Given the description of an element on the screen output the (x, y) to click on. 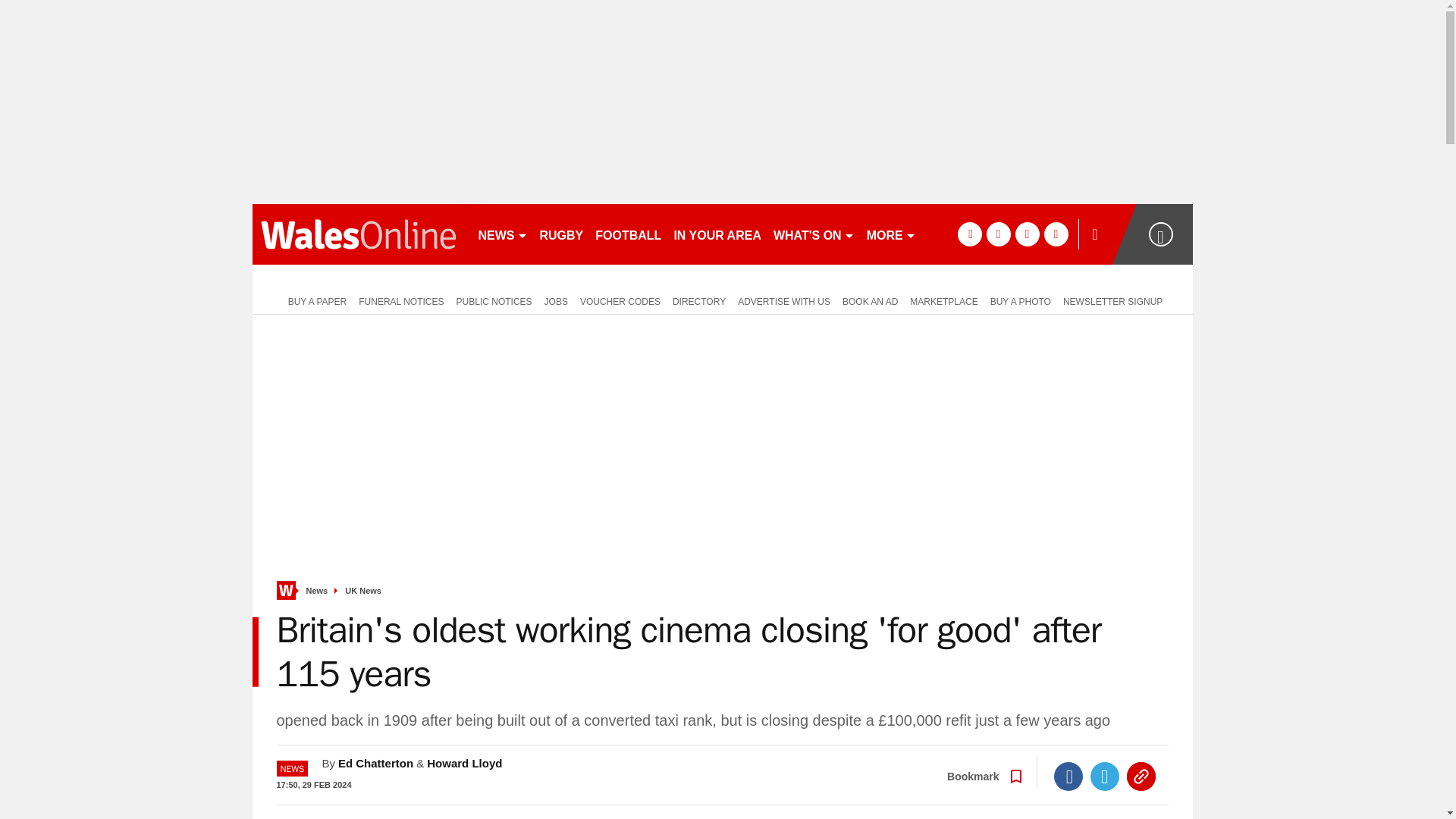
WHAT'S ON (813, 233)
facebook (968, 233)
walesonline (357, 233)
Twitter (1104, 776)
pinterest (1026, 233)
twitter (997, 233)
MORE (890, 233)
Facebook (1068, 776)
NEWS (501, 233)
instagram (1055, 233)
